Given the description of an element on the screen output the (x, y) to click on. 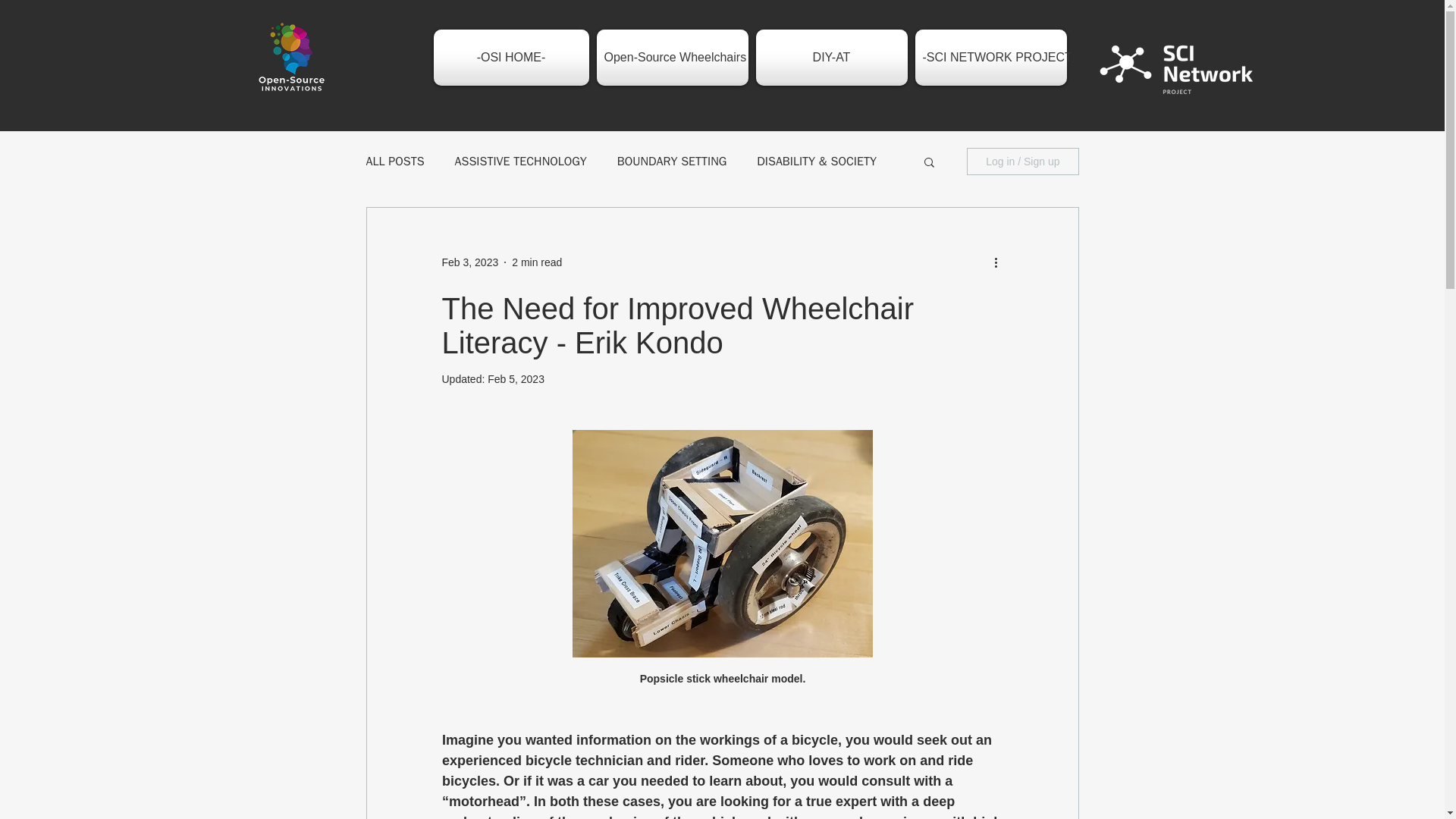
-SCI NETWORK PROJECT- (990, 57)
Feb 5, 2023 (515, 378)
2 min read (537, 262)
-OSI HOME- (512, 57)
BOUNDARY SETTING (671, 160)
ALL POSTS (394, 160)
DIY-AT (831, 57)
ASSISTIVE TECHNOLOGY (520, 160)
Feb 3, 2023 (469, 262)
